Given the description of an element on the screen output the (x, y) to click on. 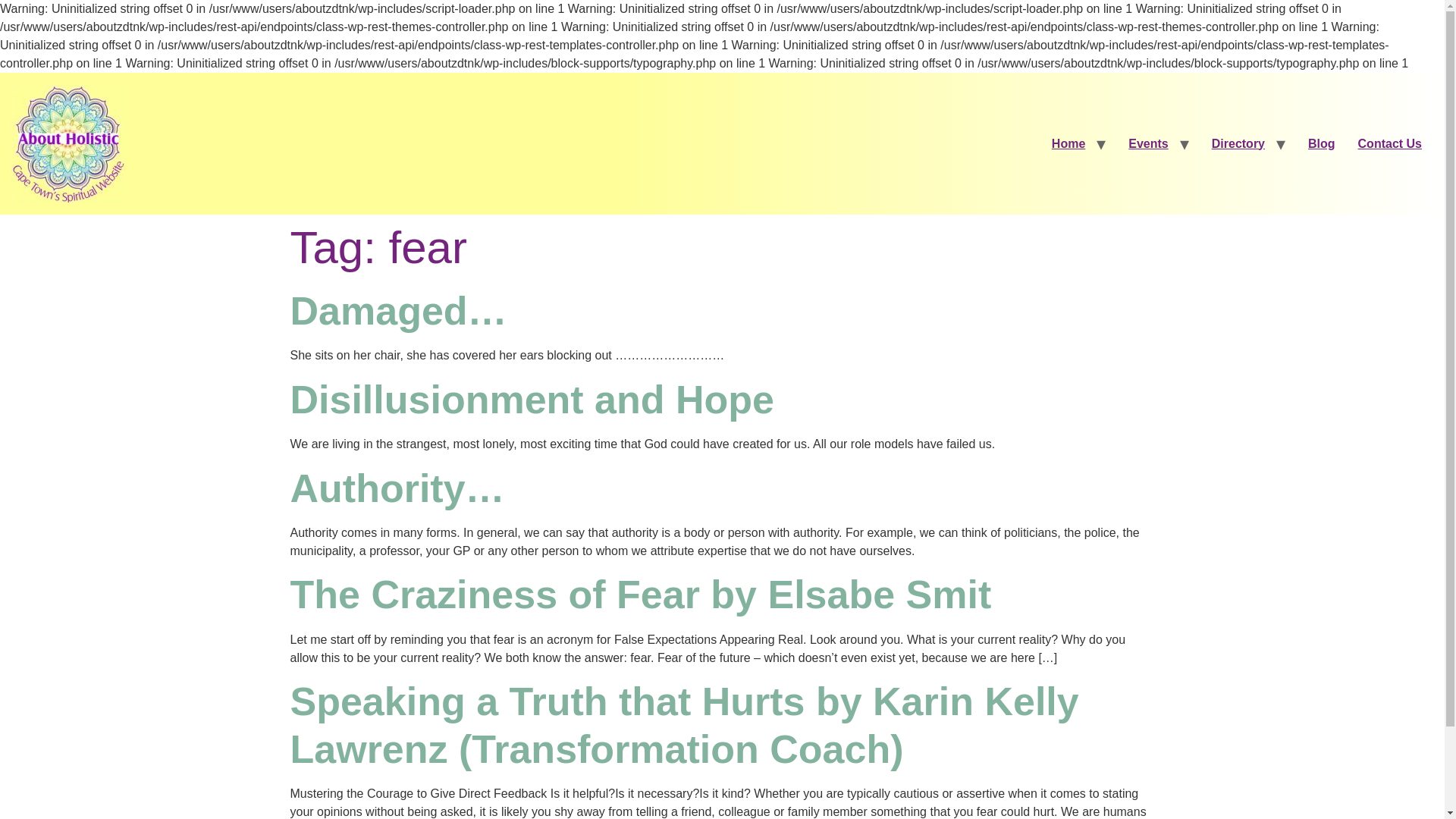
The Craziness of Fear by Elsabe Smit (640, 594)
Disillusionment and Hope (531, 399)
Directory (1237, 143)
Home (1068, 143)
Contact Us (1389, 143)
Events (1147, 143)
Blog (1321, 143)
